Given the description of an element on the screen output the (x, y) to click on. 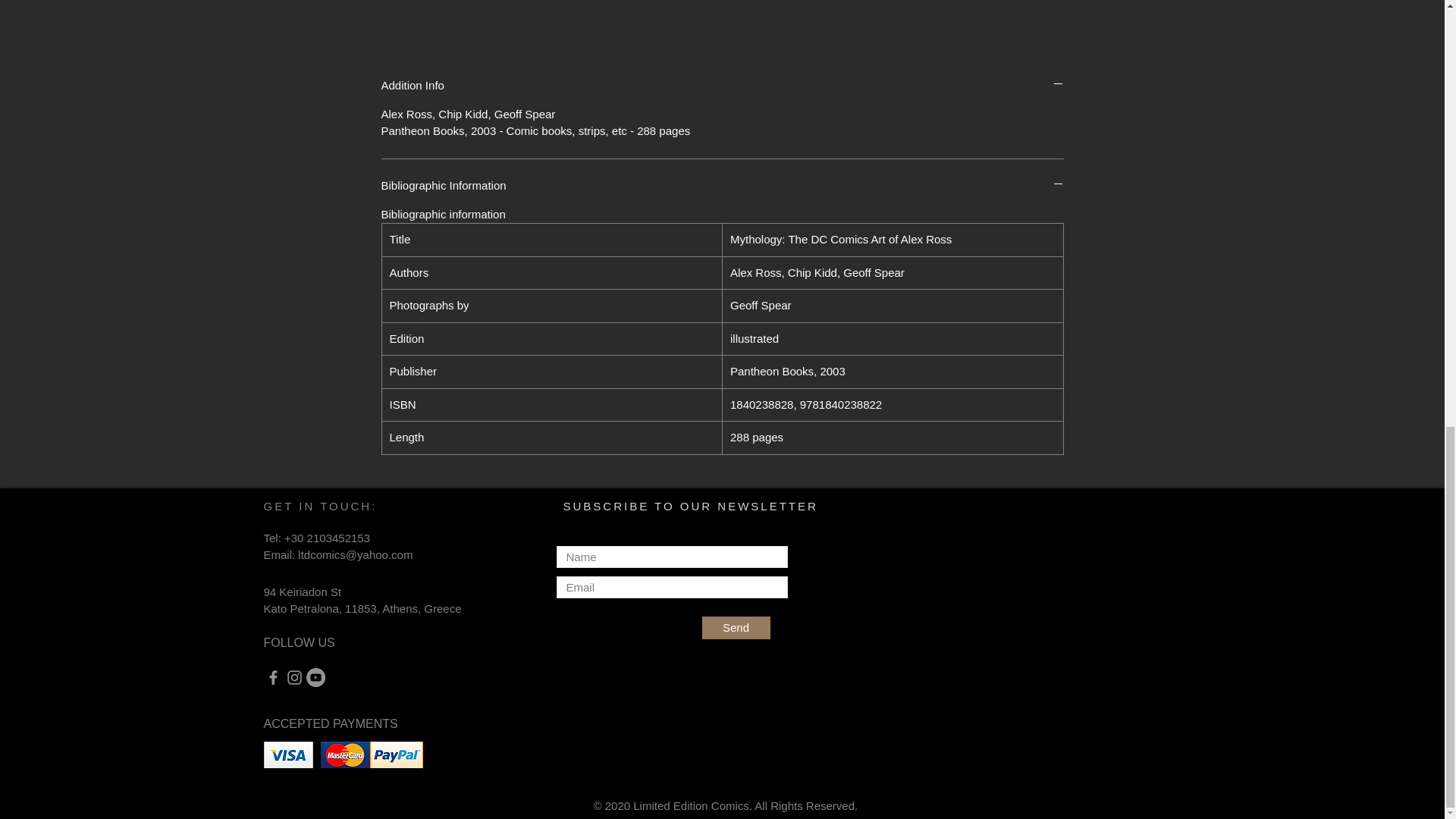
Addition Info (721, 84)
Bibliographic Information (721, 185)
Send (735, 627)
